Given the description of an element on the screen output the (x, y) to click on. 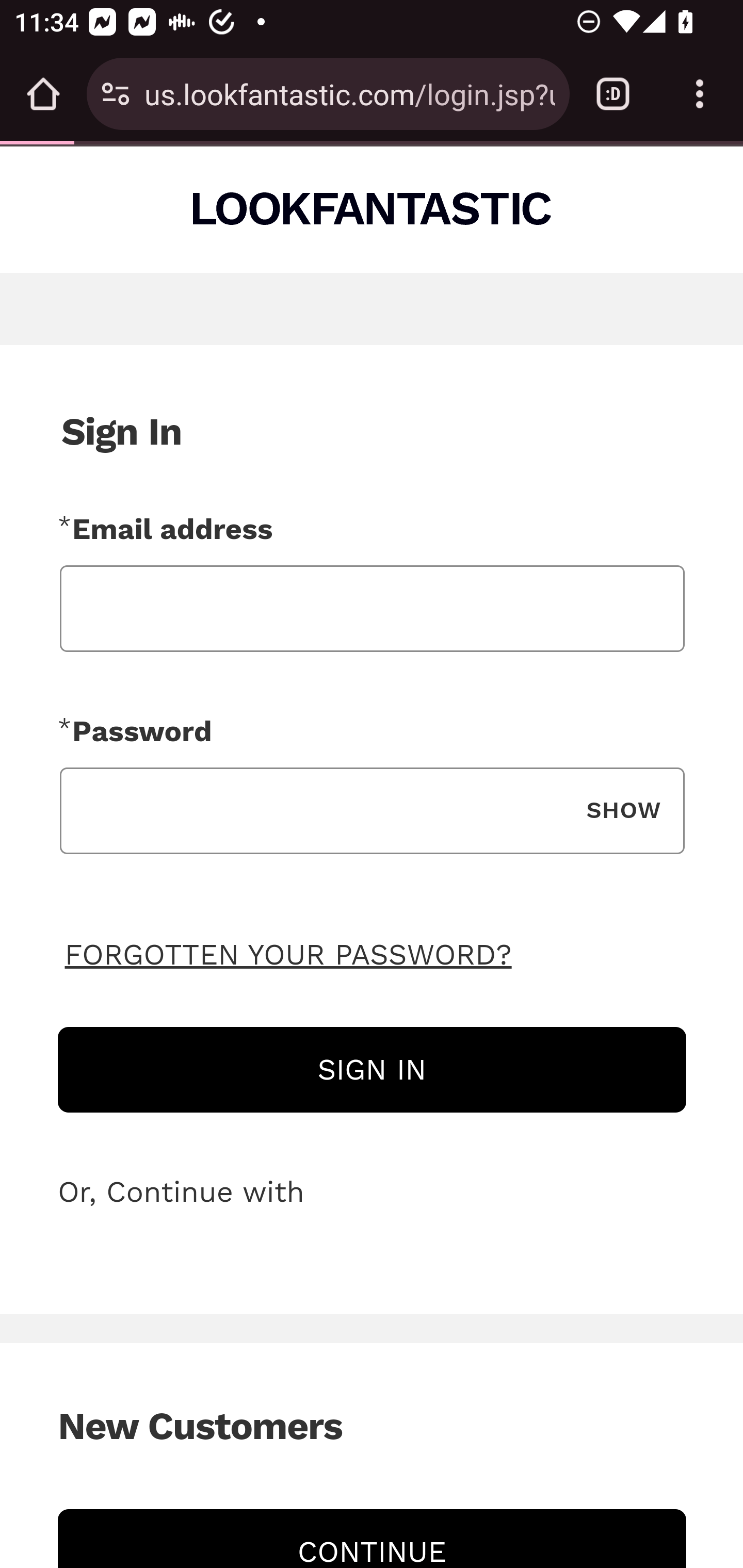
Open the home page (43, 93)
Connection is secure (115, 93)
Switch or close tabs (612, 93)
Customize and control Google Chrome (699, 93)
Lookfantastic USA Home page (372, 208)
Show Password (623, 810)
Reset your forgotten password (288, 953)
Sign in to your account (371, 1069)
CONTINUE (371, 1538)
